Given the description of an element on the screen output the (x, y) to click on. 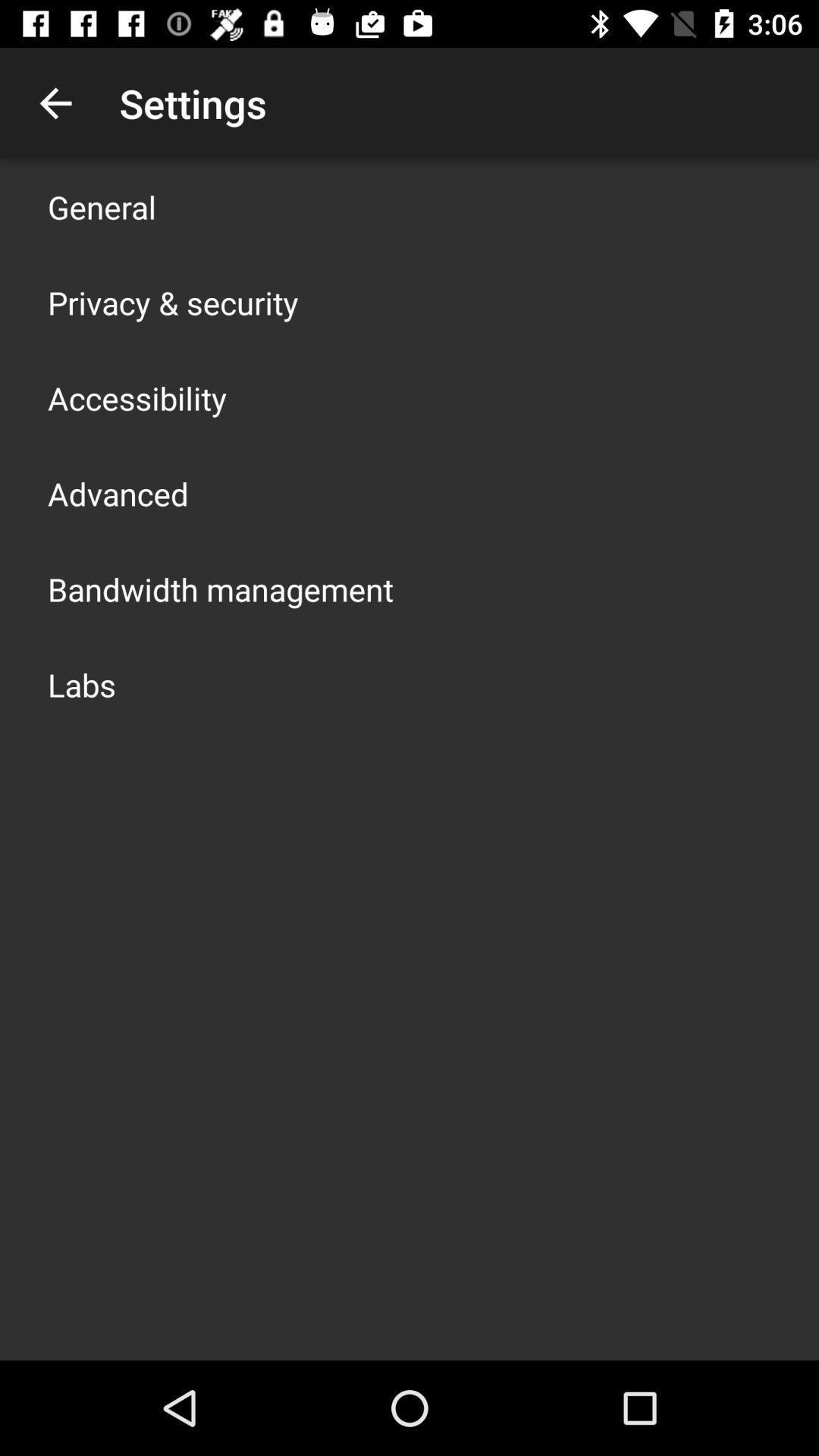
turn on the item above privacy & security icon (101, 206)
